Given the description of an element on the screen output the (x, y) to click on. 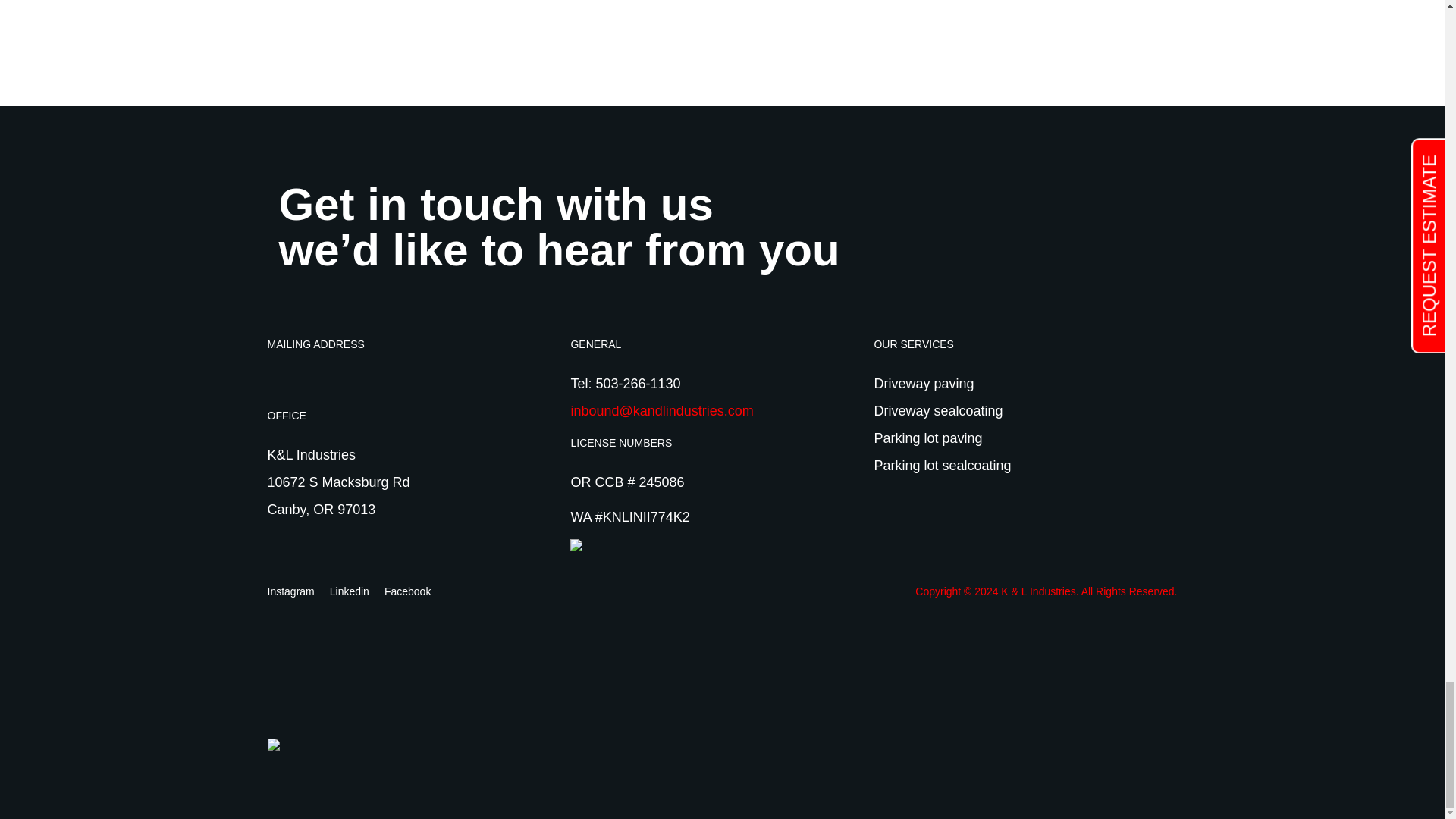
Linkedin (349, 591)
503-266-1130 (637, 383)
Facebook (407, 591)
Instagram (290, 591)
